Given the description of an element on the screen output the (x, y) to click on. 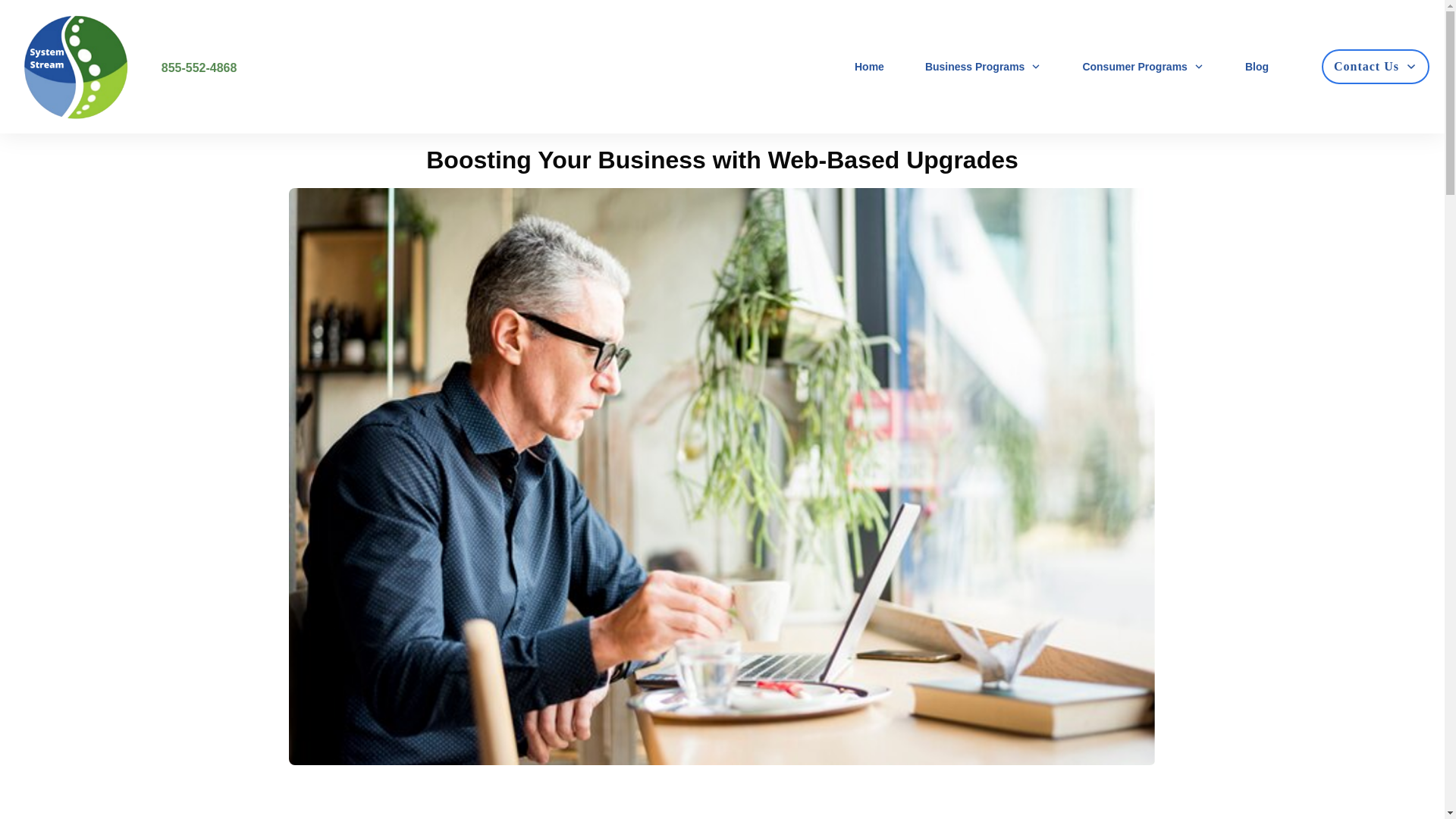
Boosting Your Business with Web-Based Upgrades (721, 159)
Business Programs (983, 66)
Contact Us (1374, 66)
Consumer Programs (1142, 66)
Blog (1256, 66)
Boosting Your Business with Web-Based Upgrades (721, 159)
Home (868, 66)
